Given the description of an element on the screen output the (x, y) to click on. 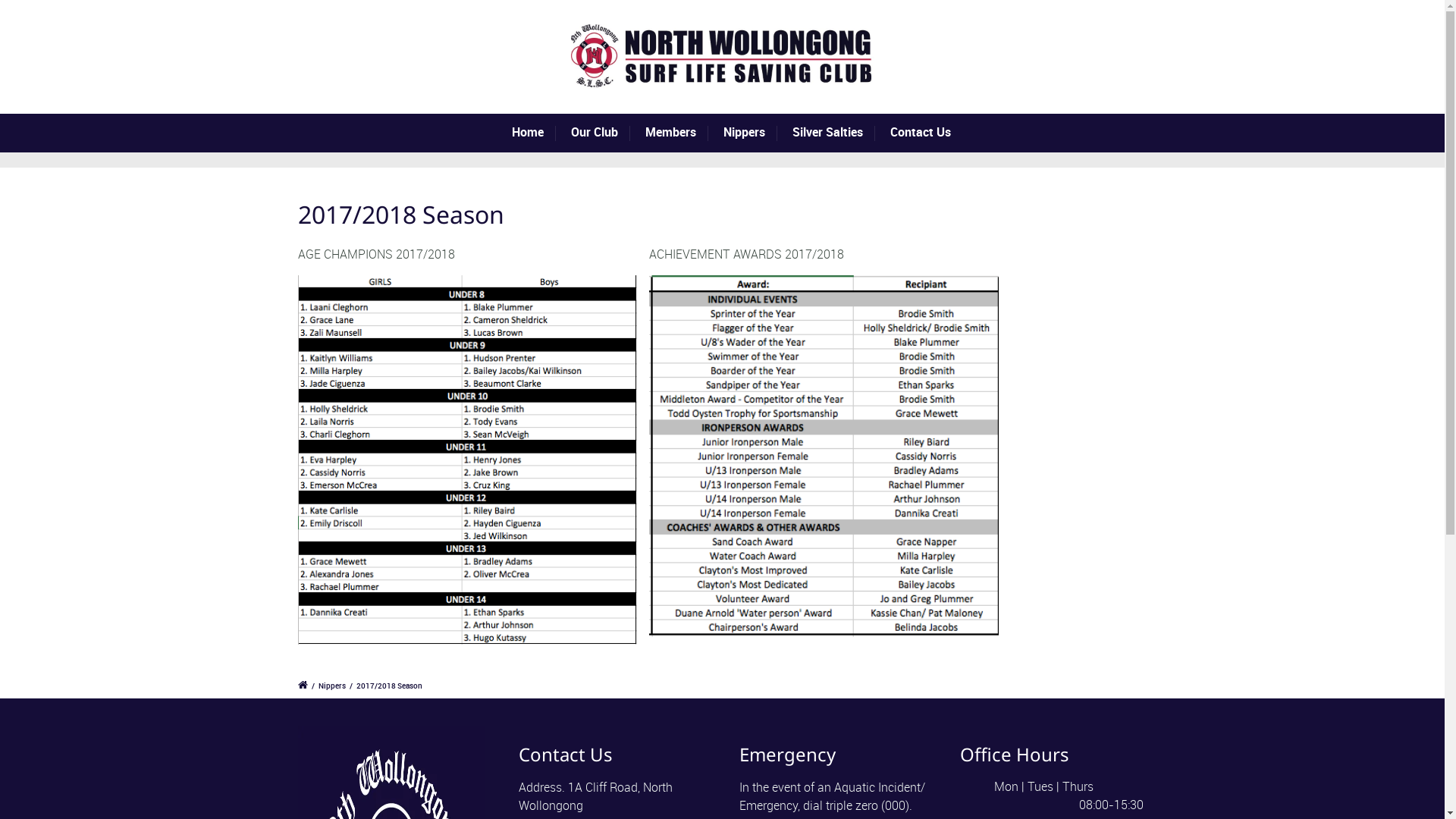
Contact Us Element type: text (926, 132)
Nippers Element type: text (750, 132)
Nippers Element type: text (331, 685)
Our Club Element type: text (600, 132)
Home Element type: text (533, 132)
Silver Salties Element type: text (833, 132)
Members Element type: text (676, 132)
